Given the description of an element on the screen output the (x, y) to click on. 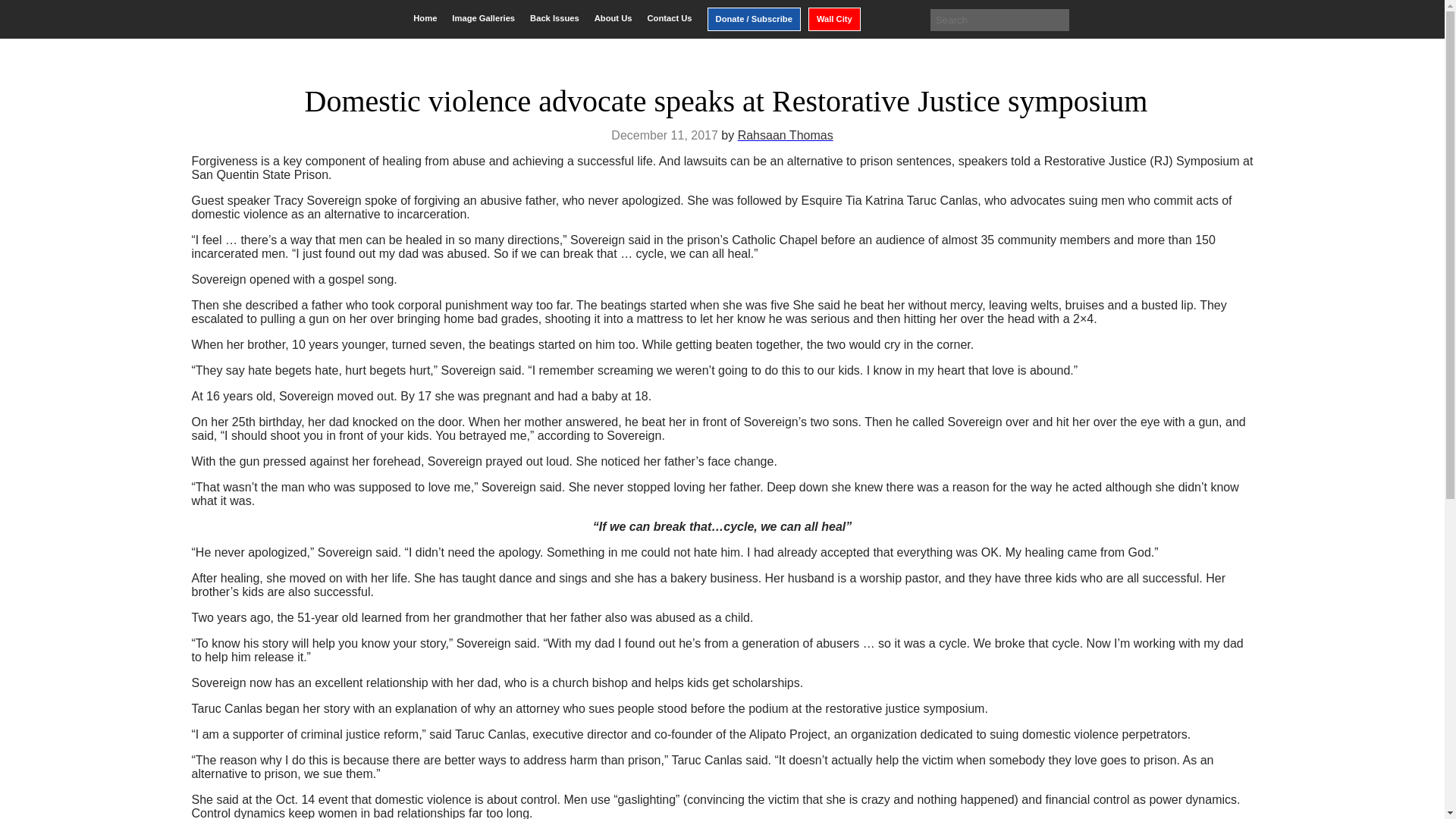
Wall City (833, 18)
Image Galleries (483, 17)
About Us (612, 17)
Back Issues (554, 17)
Home (424, 17)
Search (22, 12)
Rahsaan Thomas (785, 134)
Contact Us (668, 17)
